Given the description of an element on the screen output the (x, y) to click on. 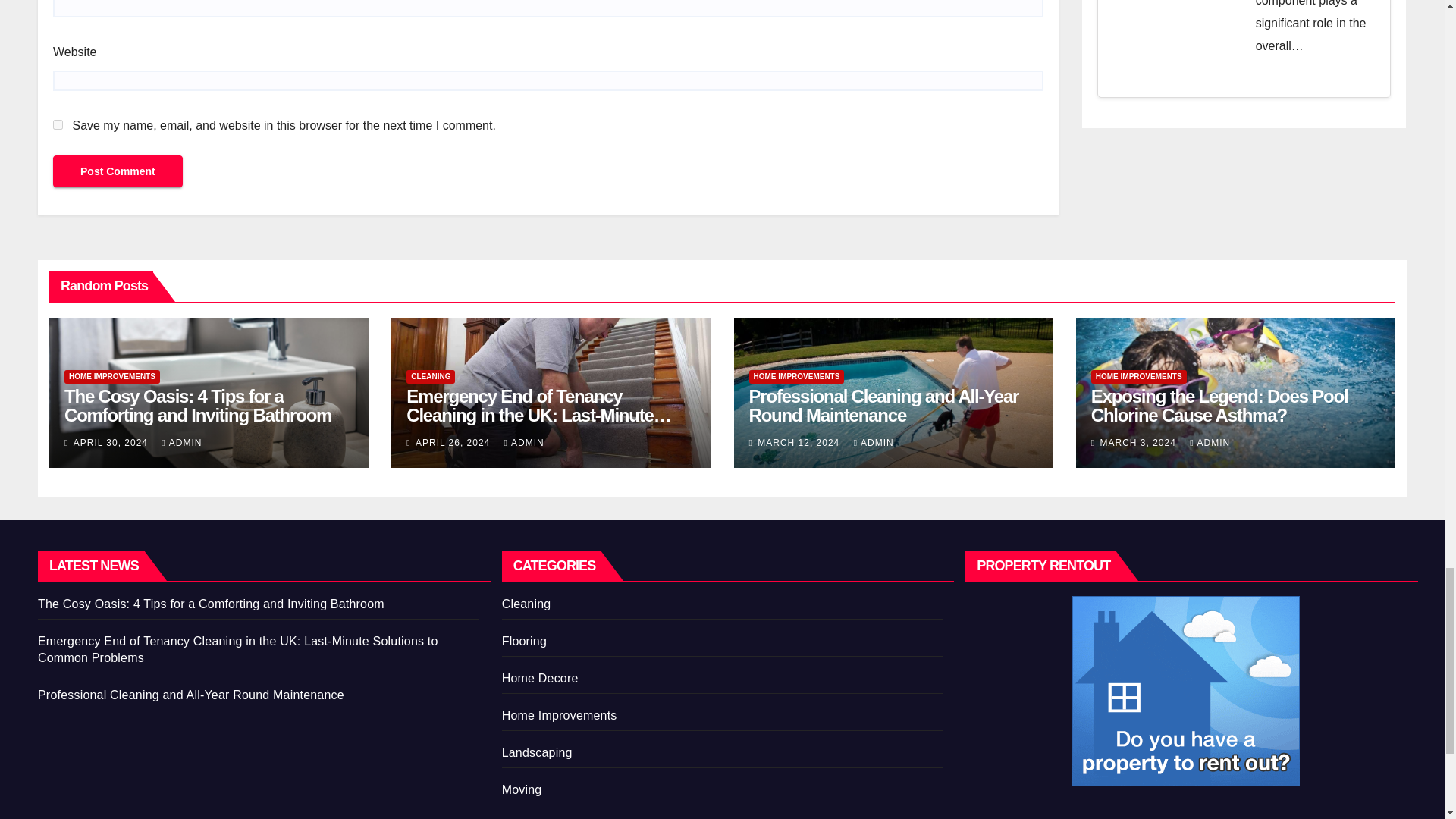
Post Comment (117, 171)
yes (57, 124)
